Given the description of an element on the screen output the (x, y) to click on. 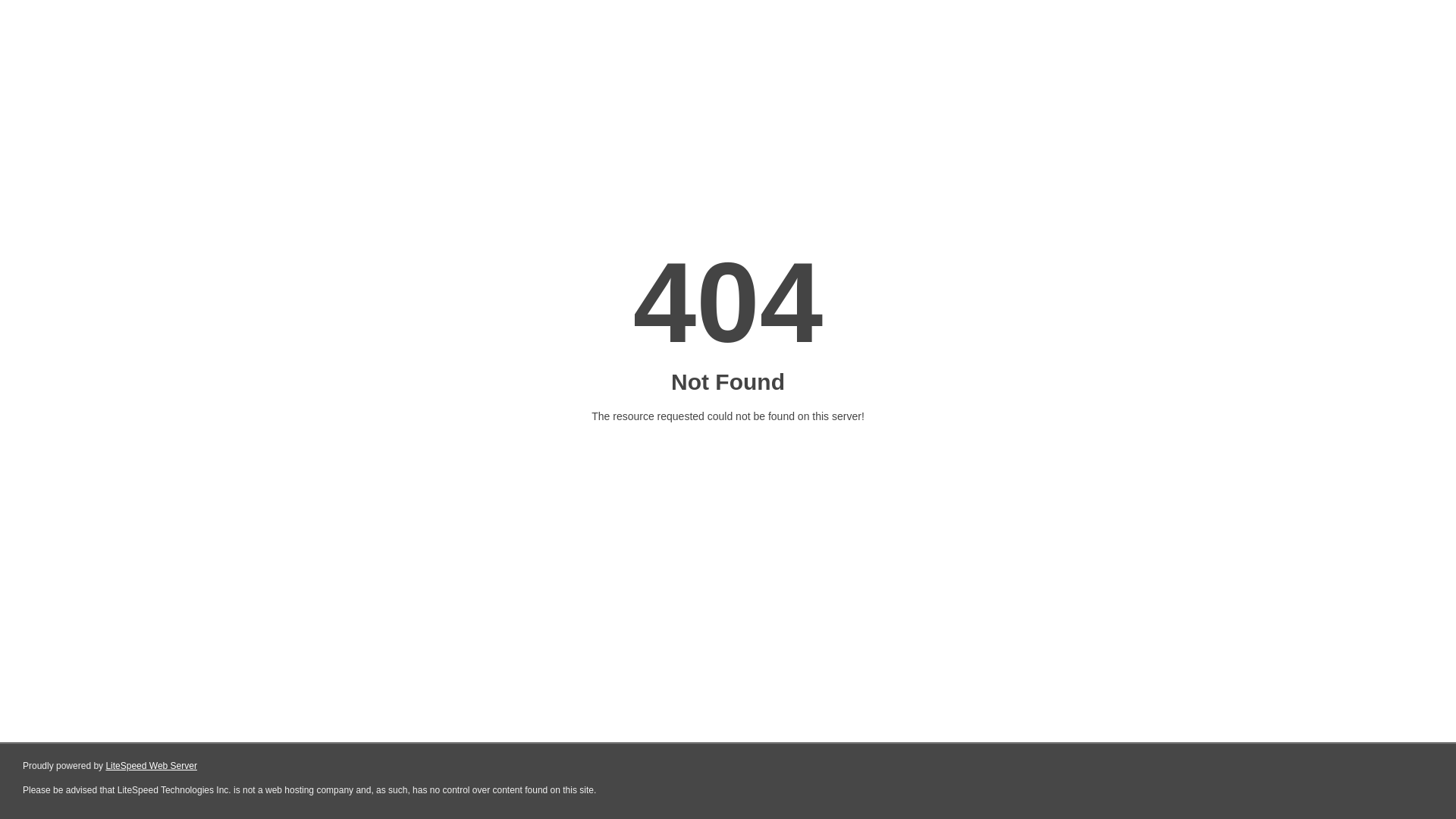
LiteSpeed Web Server Element type: text (151, 765)
